Given the description of an element on the screen output the (x, y) to click on. 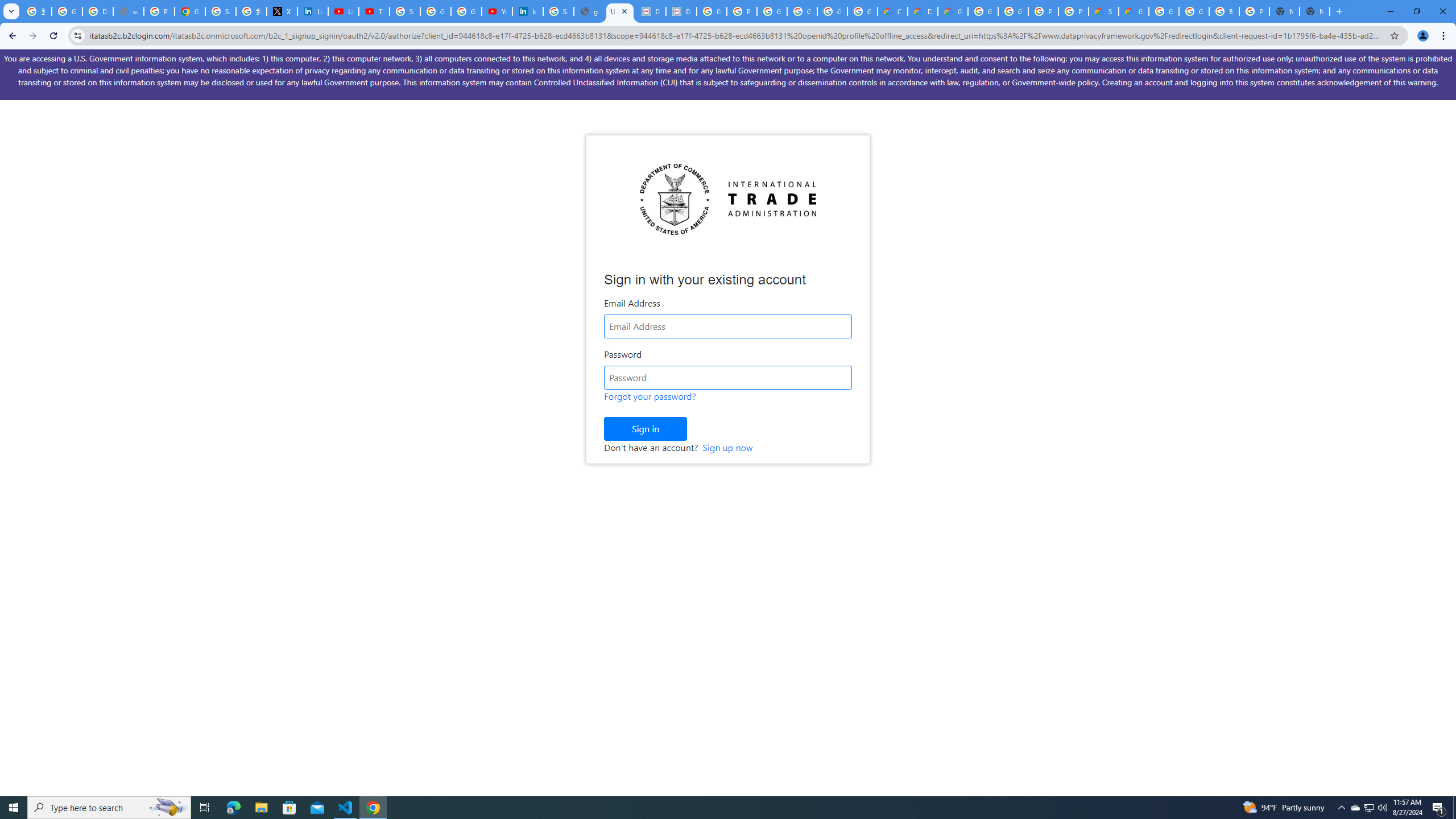
New Tab (1314, 11)
Google Cloud Platform (1012, 11)
Customer Care | Google Cloud (892, 11)
Password (727, 377)
Google Cloud Service Health (1133, 11)
Sign in - Google Accounts (404, 11)
Email Address (727, 326)
User Details (619, 11)
